Given the description of an element on the screen output the (x, y) to click on. 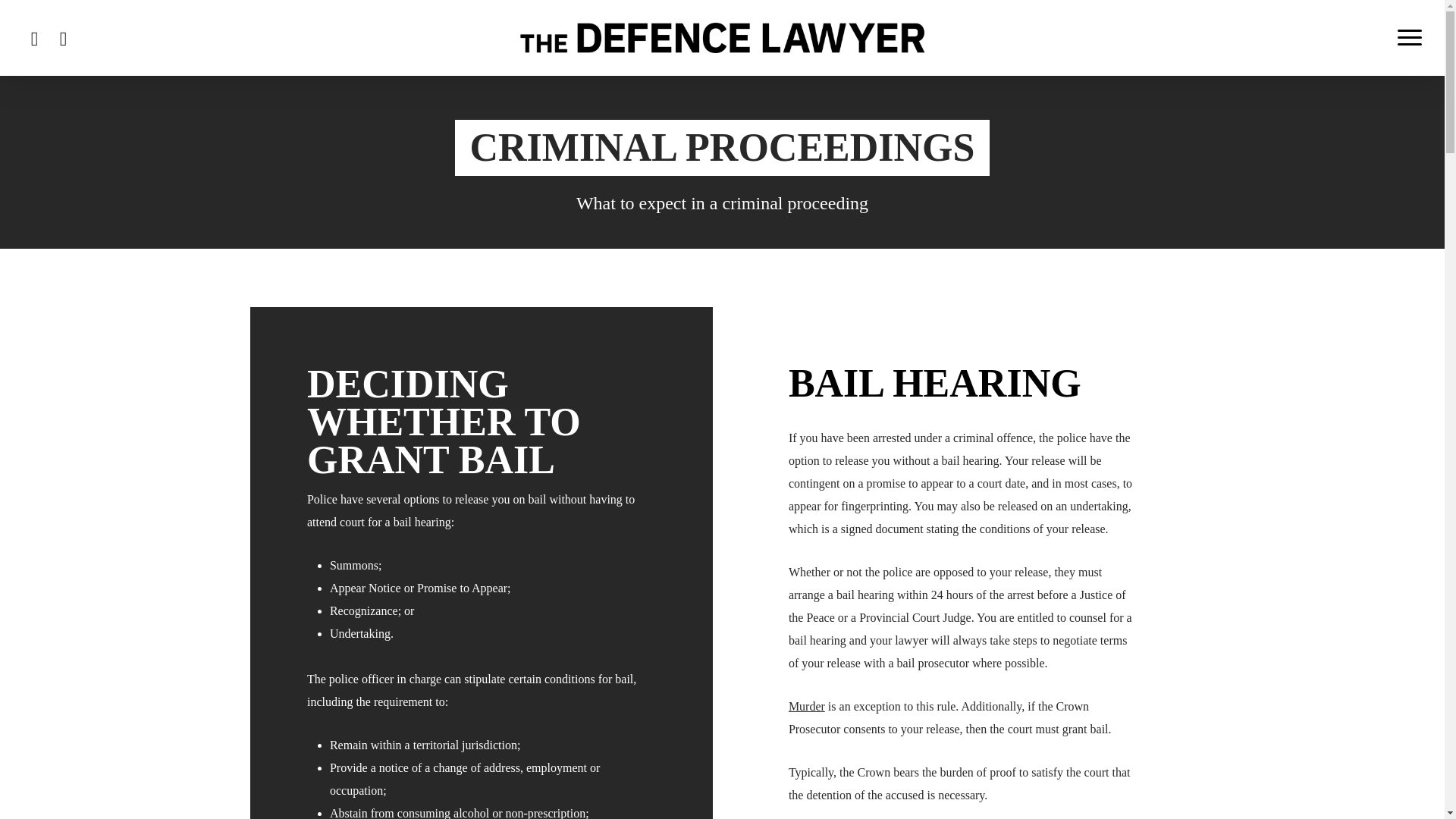
EMAIL (63, 36)
Menu (1409, 38)
Murder (807, 706)
PHONE (35, 36)
